Given the description of an element on the screen output the (x, y) to click on. 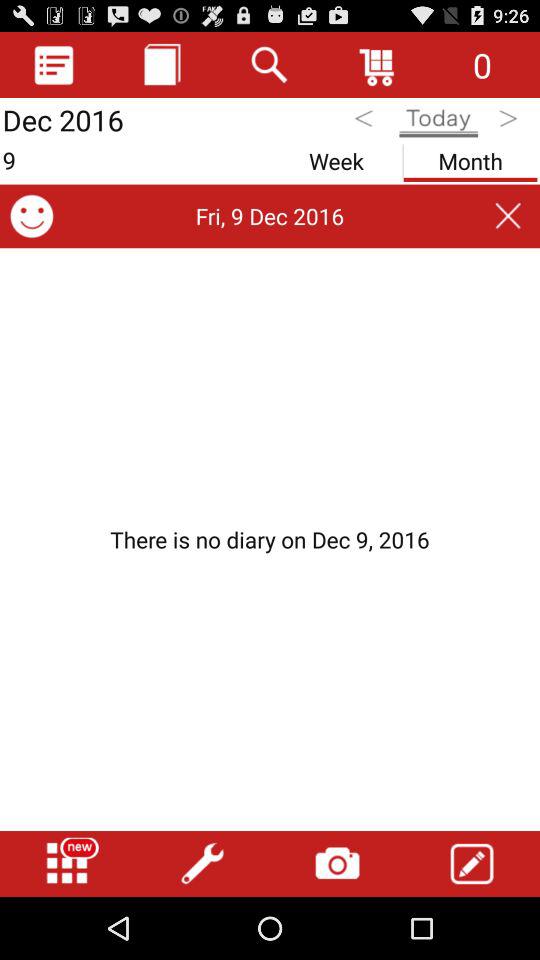
cancel the selected date (507, 215)
